Given the description of an element on the screen output the (x, y) to click on. 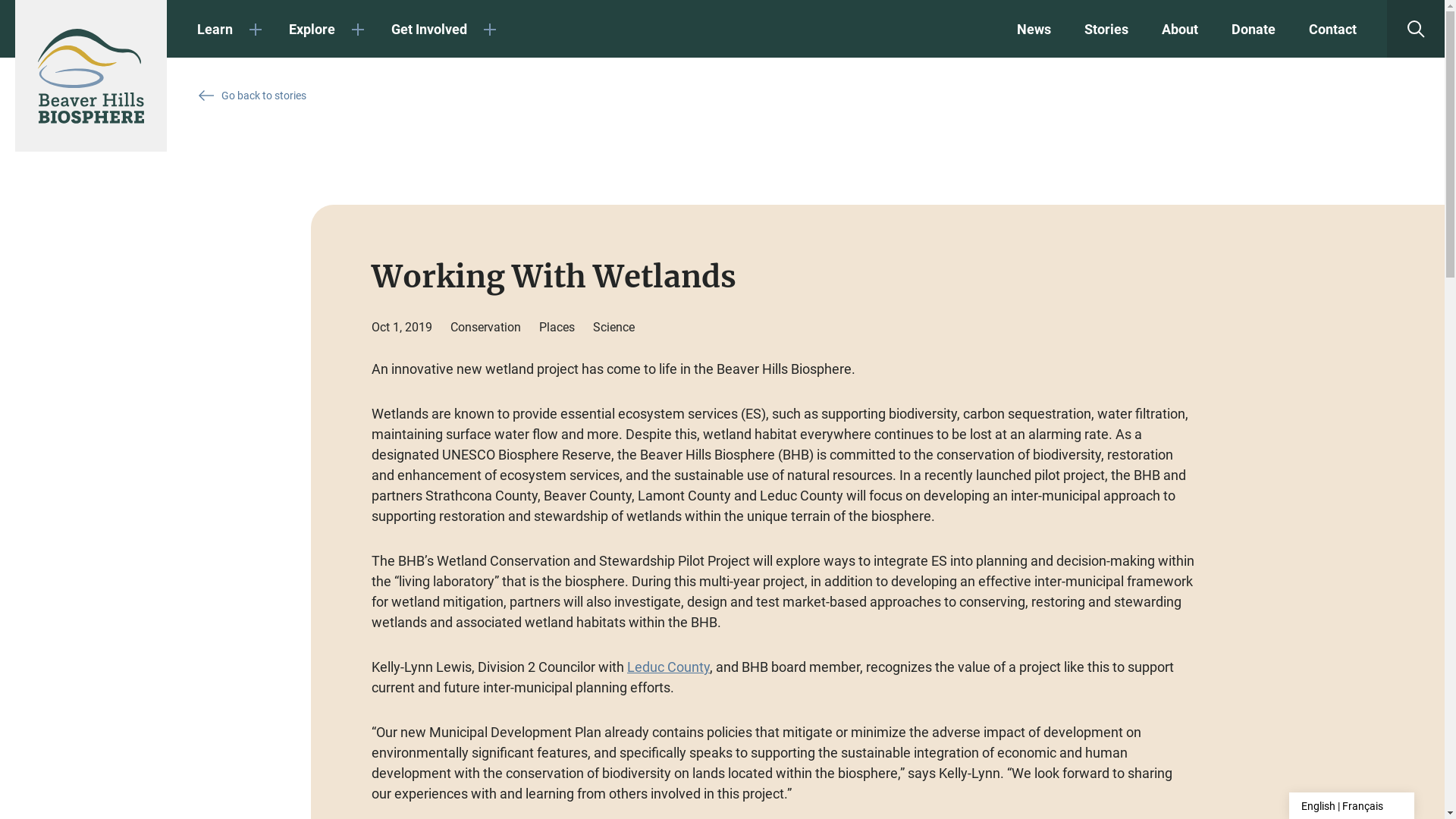
Get Involved Element type: text (444, 28)
News Element type: text (1033, 28)
Conservation Element type: text (485, 327)
About Element type: text (1179, 28)
Leduc County Element type: text (668, 666)
Stories Element type: text (1106, 28)
Places Element type: text (556, 327)
Beaver Hills Biosphere Element type: hover (90, 75)
Donate Element type: text (1253, 28)
Contact Element type: text (1332, 28)
Go back to stories Element type: text (252, 95)
Explore Element type: text (327, 28)
Subscribe Element type: text (638, 568)
Science Element type: text (613, 327)
Learn Element type: text (229, 28)
